Given the description of an element on the screen output the (x, y) to click on. 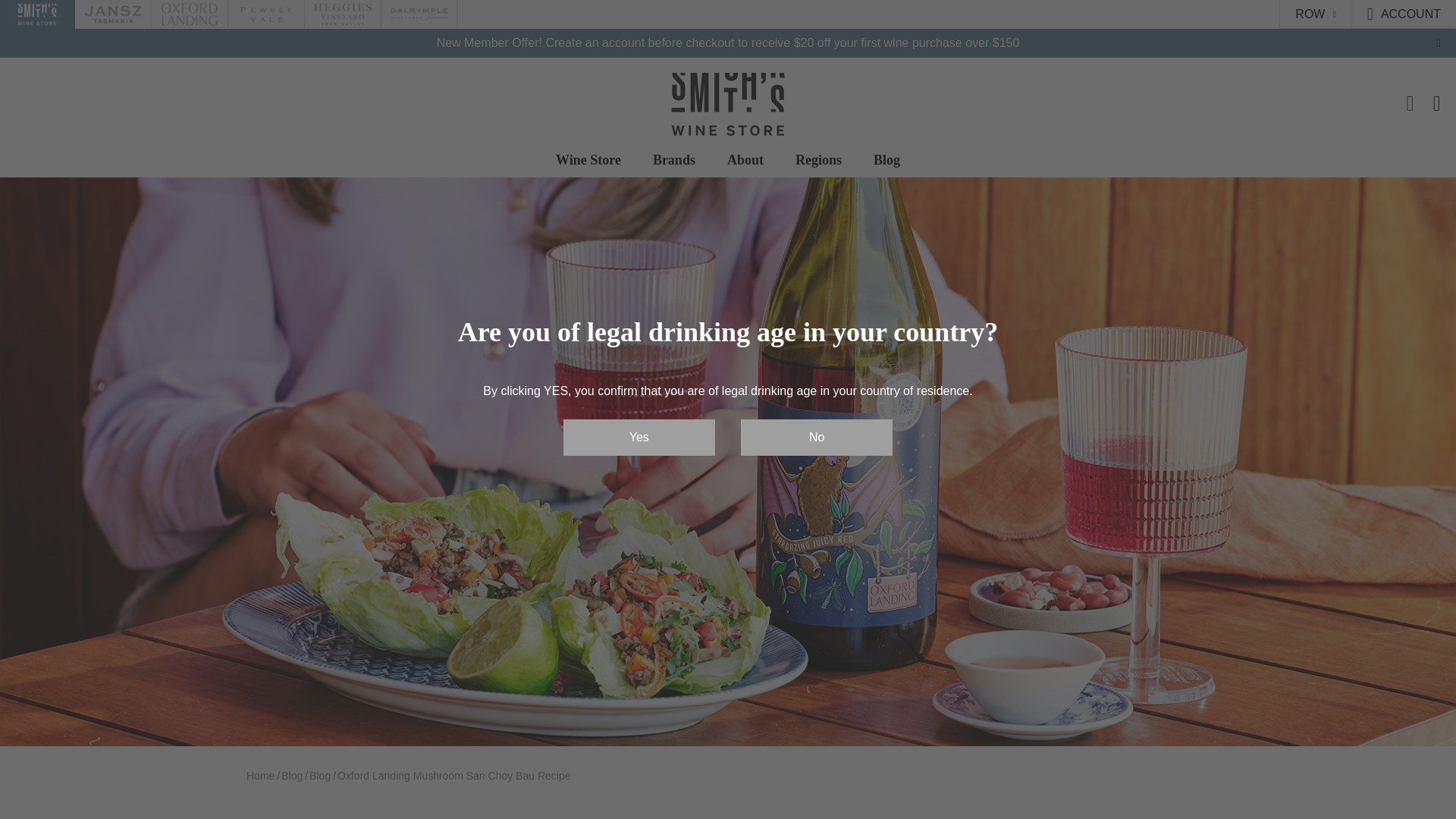
ACCOUNT (1410, 13)
Dalrymple Vineyards (418, 14)
Smiths Wine Store (36, 14)
Smiths Wine Store (36, 14)
Jansz Tasmania (112, 14)
Oxford Landing (188, 14)
Heggies Vineyard (342, 14)
Wine Store (588, 160)
Pewsey Vale Vineyard (266, 14)
Heggies Vineyard (342, 14)
Pewsey Vale Vineyard (266, 14)
Yes (638, 436)
Dalrymple Vineyards (418, 14)
No (816, 436)
Jansz Tasmania (112, 14)
